Given the description of an element on the screen output the (x, y) to click on. 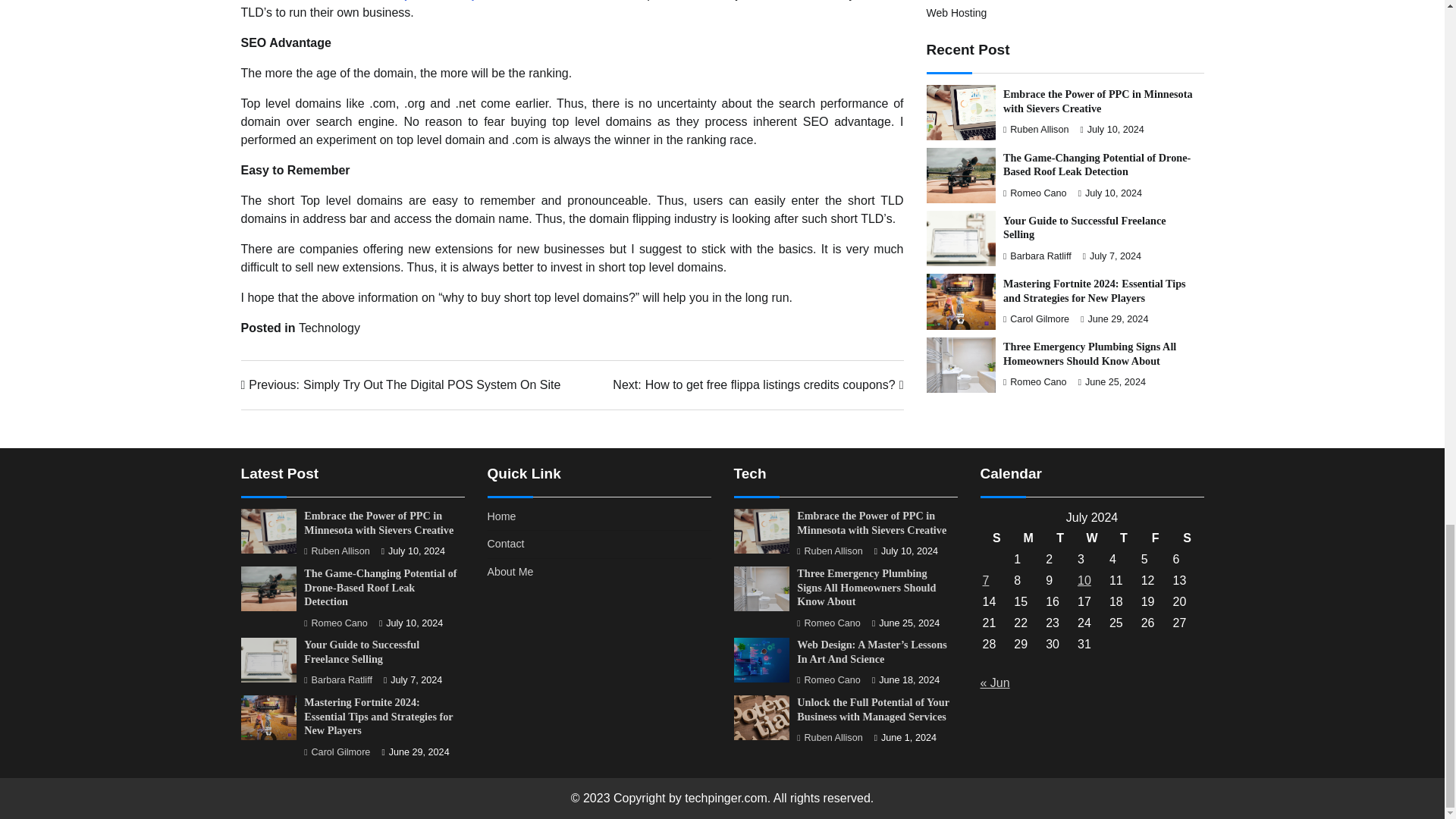
Monday (1028, 537)
Sunday (996, 537)
Best Mobile and web development Companies (757, 384)
Technology (1155, 537)
Wednesday (328, 327)
Thursday (1091, 537)
Tuesday (1123, 537)
Saturday (1060, 537)
